Given the description of an element on the screen output the (x, y) to click on. 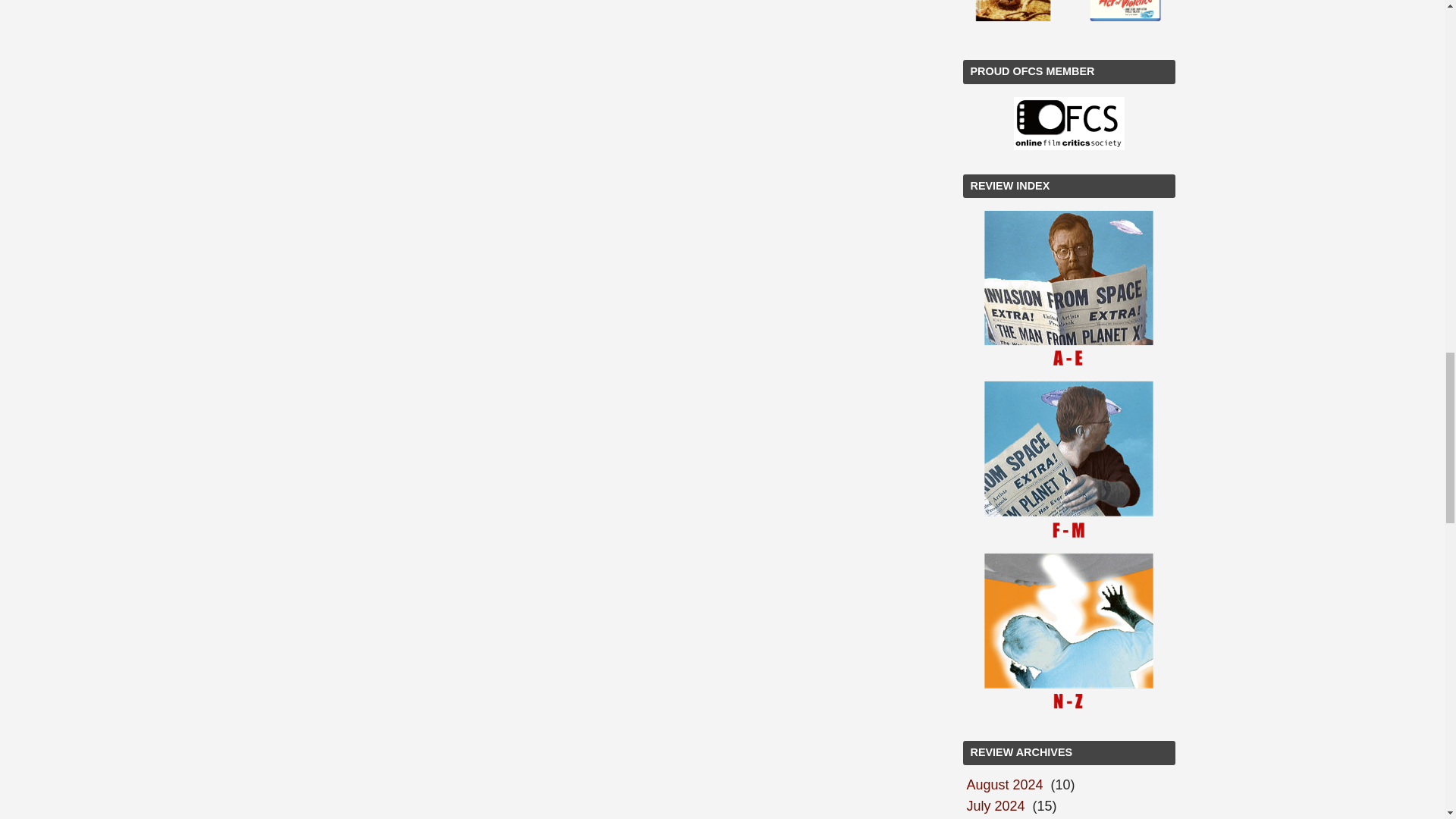
August 2024 (1004, 784)
June 2024 (997, 817)
July 2024 (995, 805)
